Given the description of an element on the screen output the (x, y) to click on. 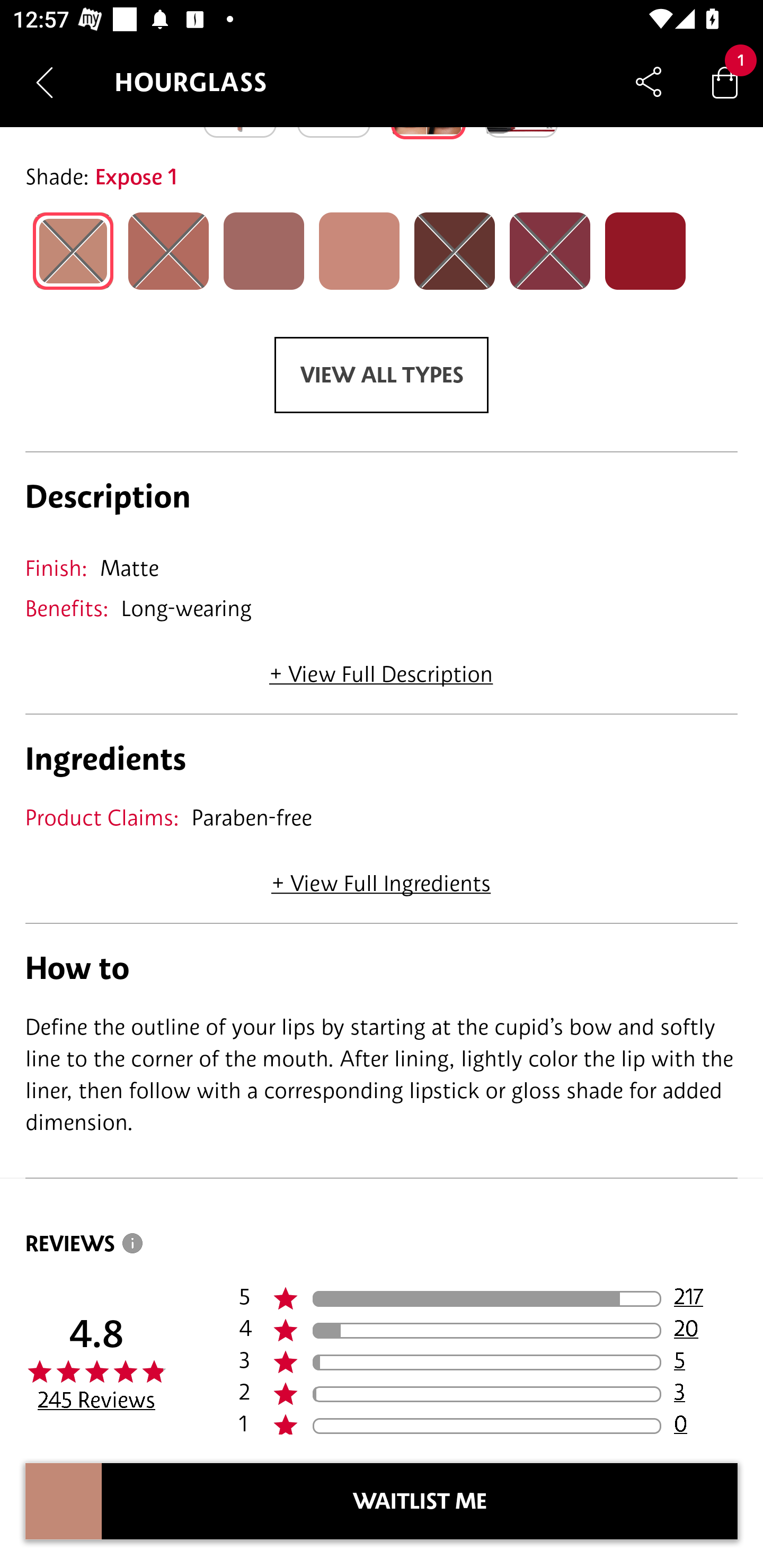
Navigate up (44, 82)
Share (648, 81)
Bag (724, 81)
VIEW ALL TYPES (381, 375)
+ View Full Description (380, 667)
+ View Full Ingredients (380, 876)
5 88.0 217 (487, 1298)
4 8.0 20 (487, 1330)
3 2.0 5 (487, 1362)
2 1.0 3 (487, 1393)
245 Reviews (96, 1400)
1 0.0 0 (487, 1421)
WAITLIST ME (419, 1500)
